Given the description of an element on the screen output the (x, y) to click on. 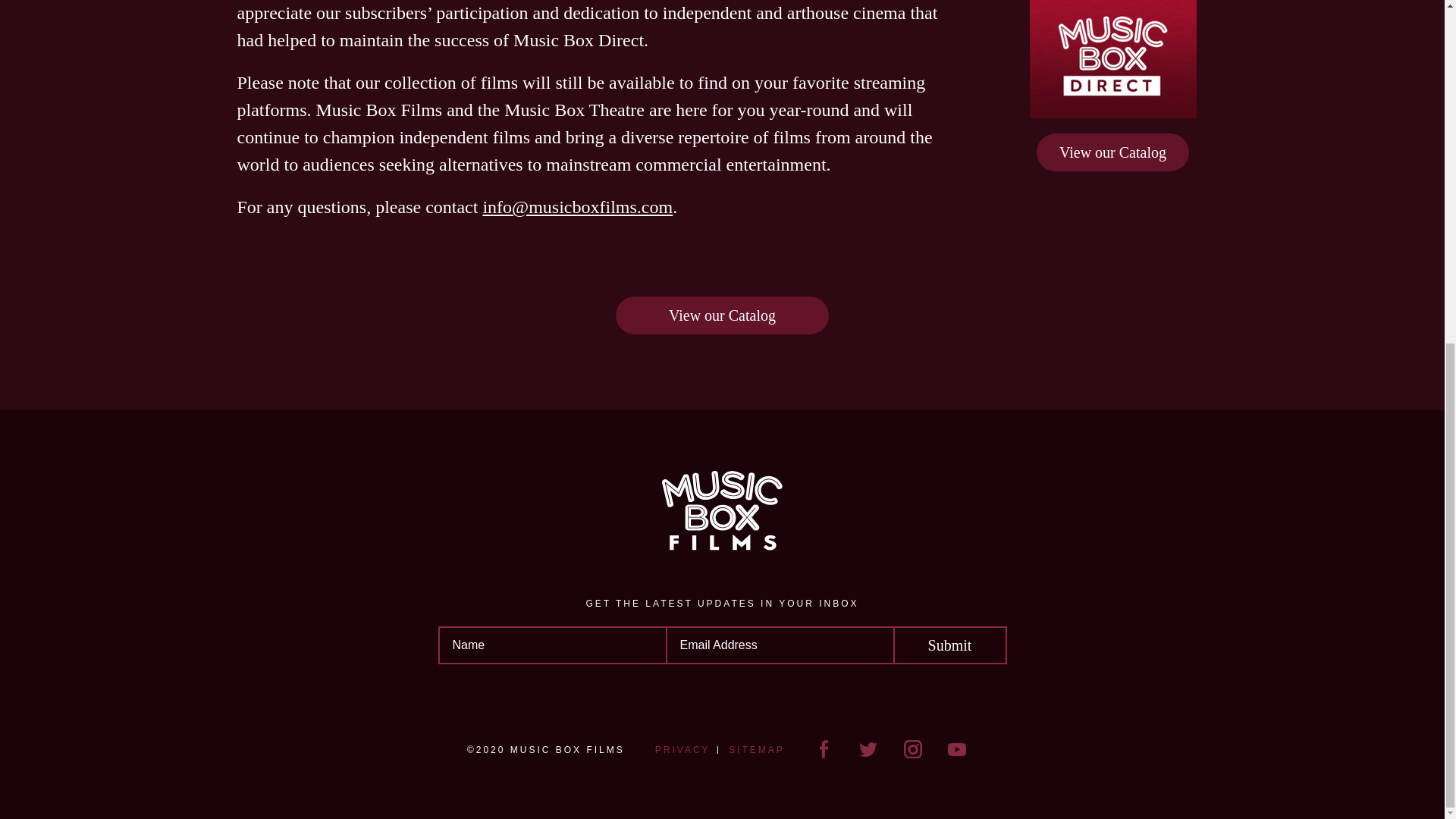
Instagram (912, 749)
Twitter (868, 749)
Submit (950, 645)
View our Catalog (1112, 151)
SITEMAP (756, 749)
Facebook (823, 749)
Youtube (956, 749)
PRIVACY (682, 749)
Submit (950, 645)
View our Catalog (721, 315)
